Given the description of an element on the screen output the (x, y) to click on. 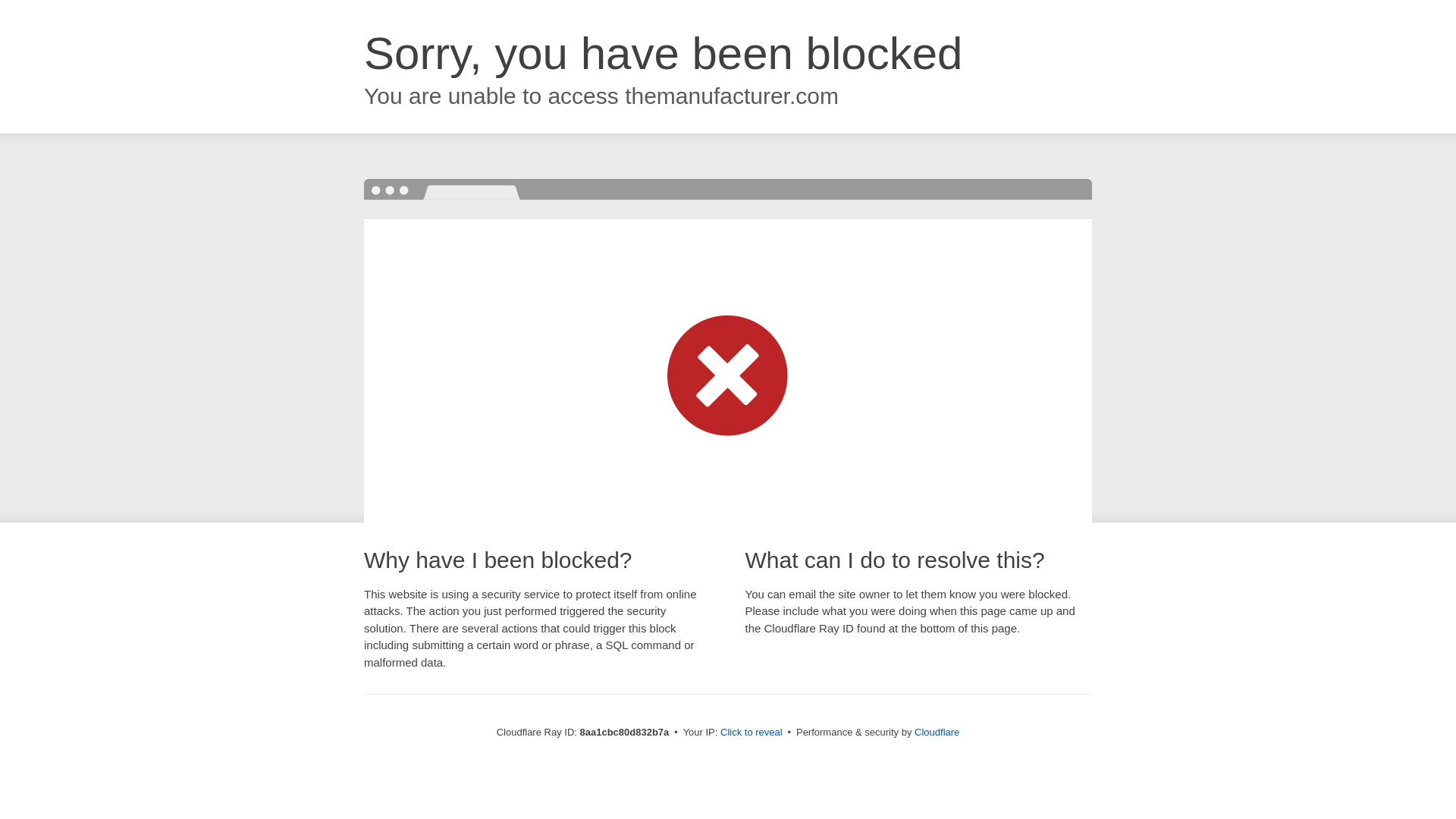
Click to reveal (751, 732)
Cloudflare (936, 731)
